Given the description of an element on the screen output the (x, y) to click on. 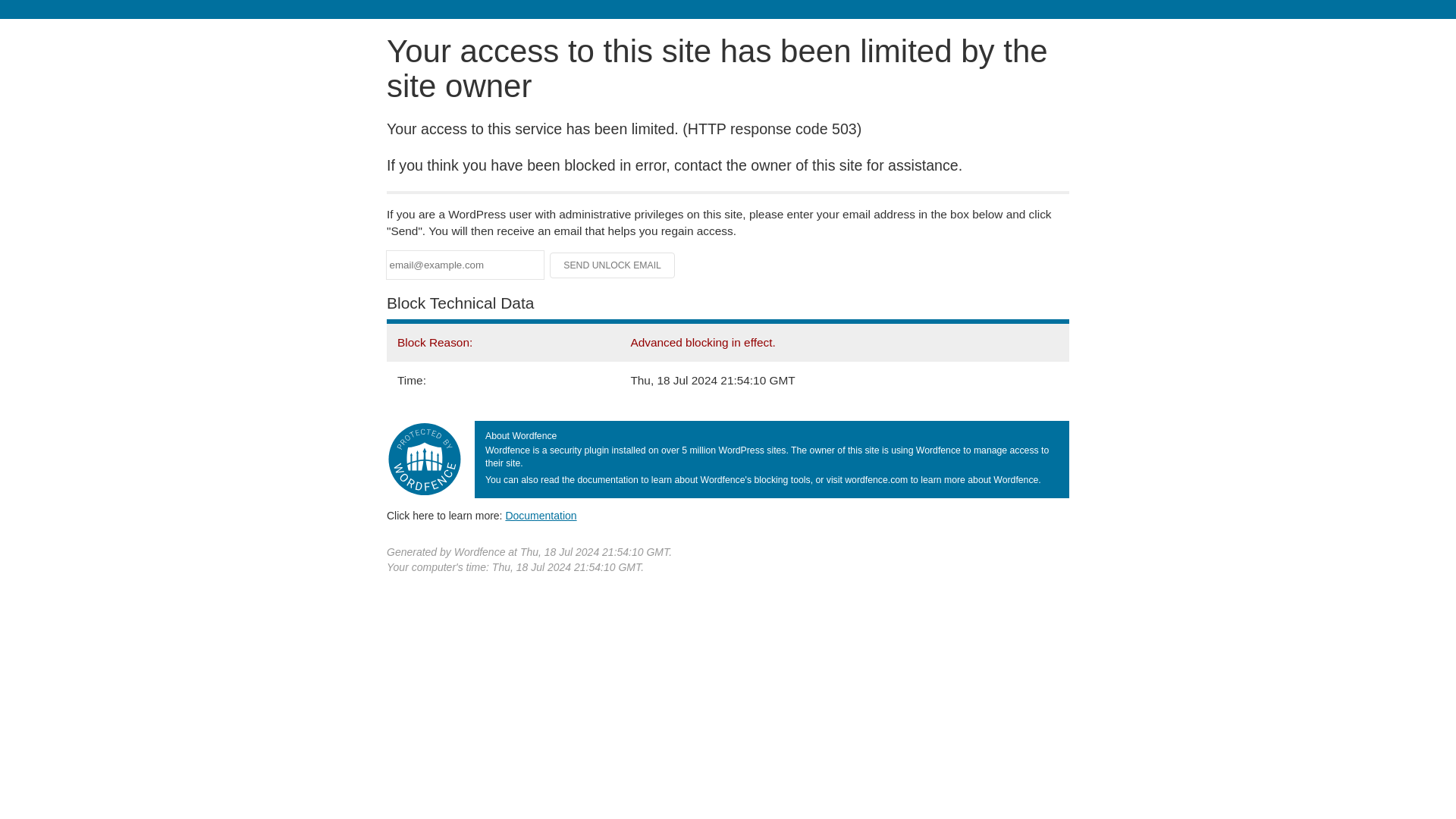
Send Unlock Email (612, 265)
Send Unlock Email (612, 265)
Documentation (540, 515)
